Given the description of an element on the screen output the (x, y) to click on. 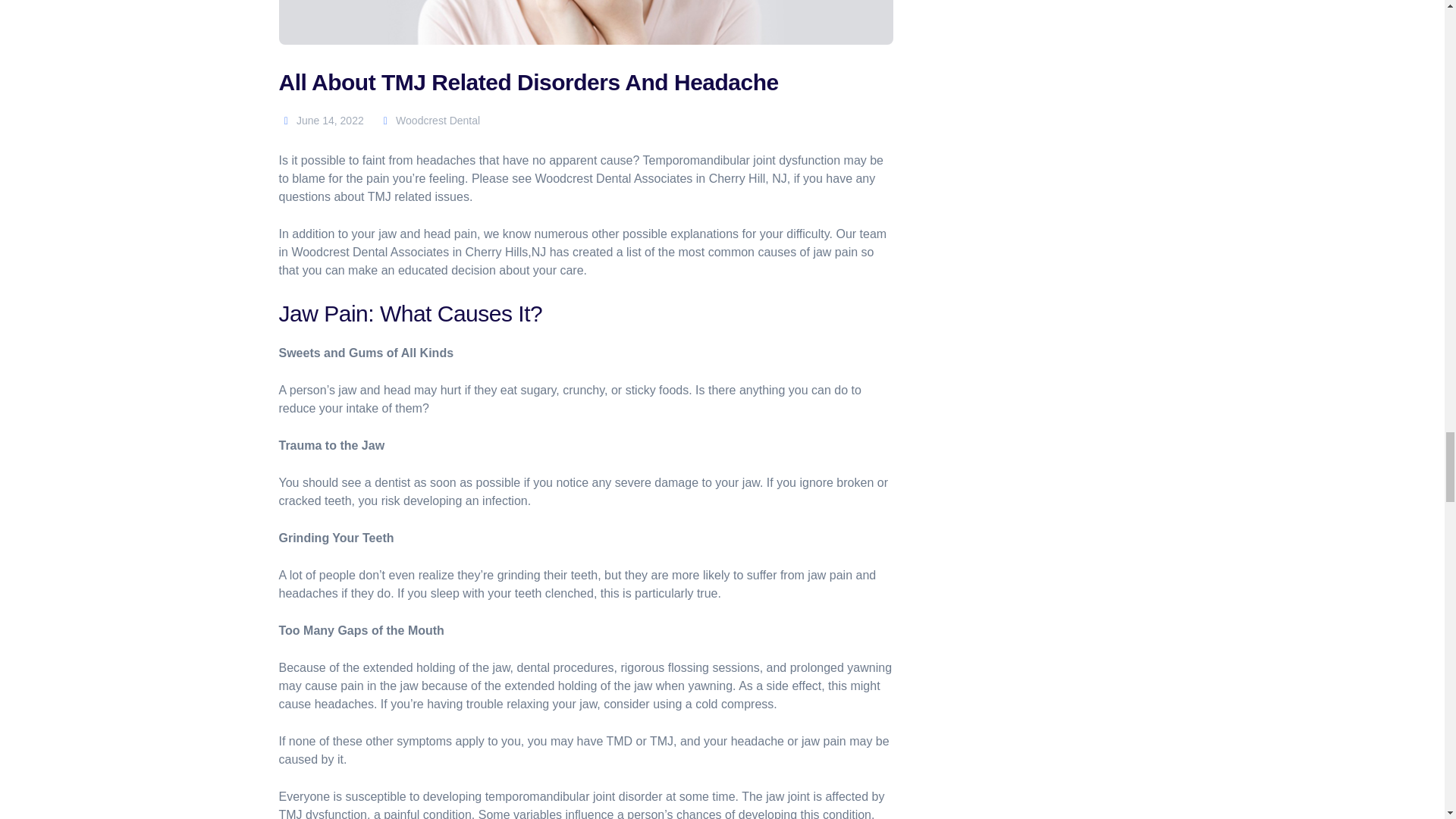
Posted by Woodcrest Dental (429, 120)
